Given the description of an element on the screen output the (x, y) to click on. 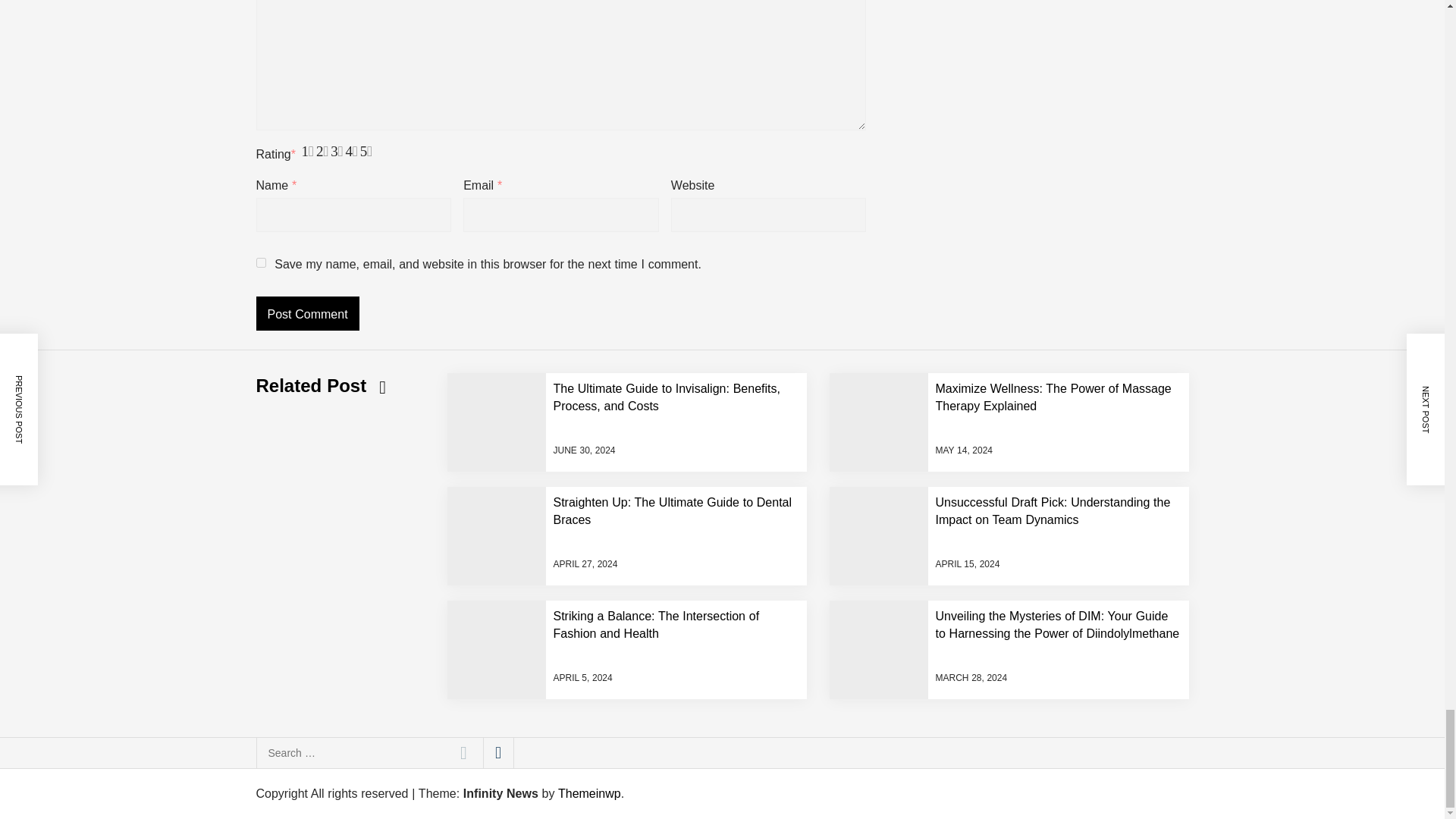
Post Comment (307, 313)
Search (462, 752)
Search (462, 752)
yes (261, 262)
